Given the description of an element on the screen output the (x, y) to click on. 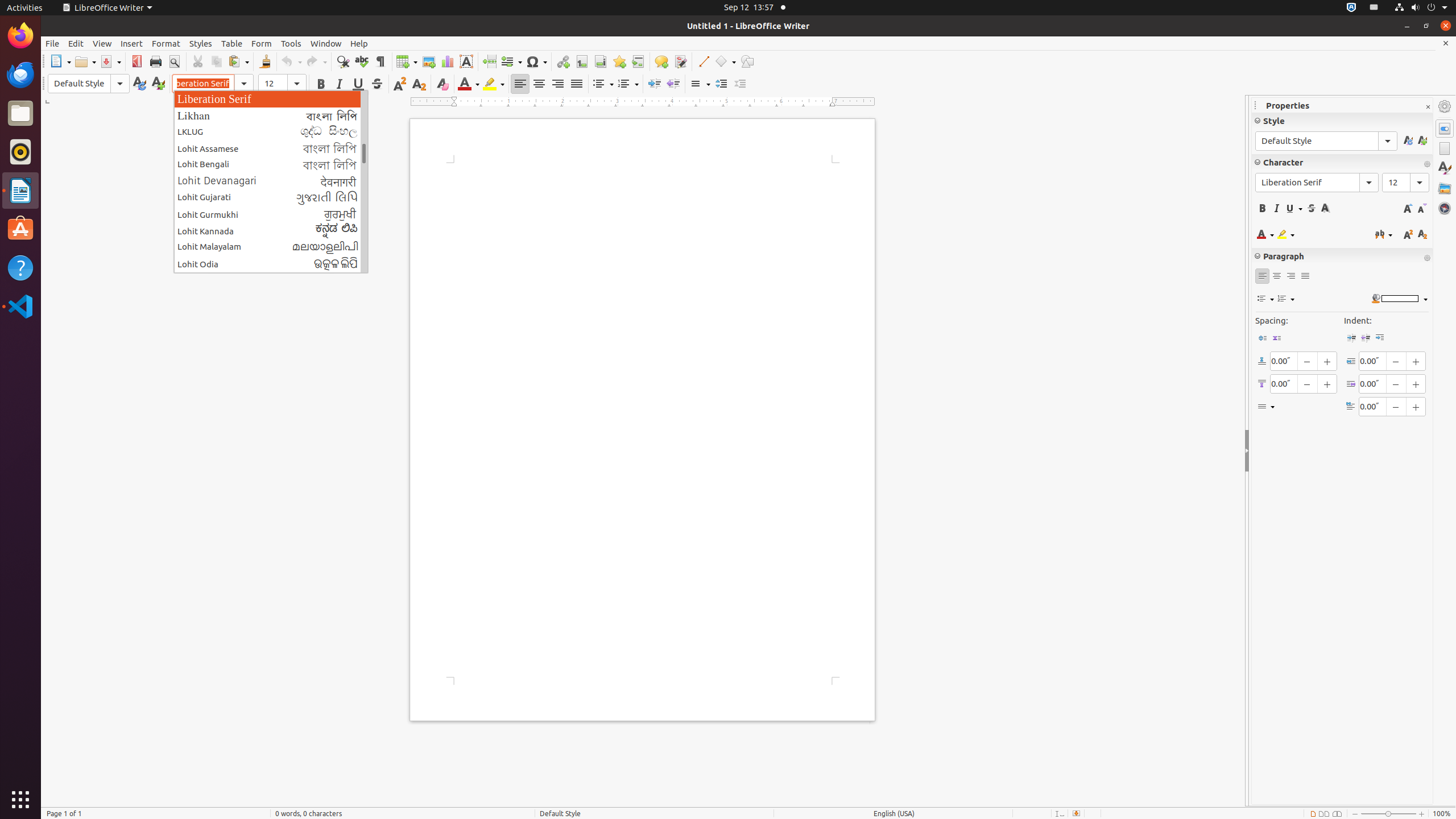
Print Preview Element type: toggle-button (173, 61)
Subscript Element type: toggle-button (418, 83)
Navigator Element type: radio-button (1444, 208)
Table Element type: menu (231, 43)
Justified Element type: toggle-button (576, 83)
